Given the description of an element on the screen output the (x, y) to click on. 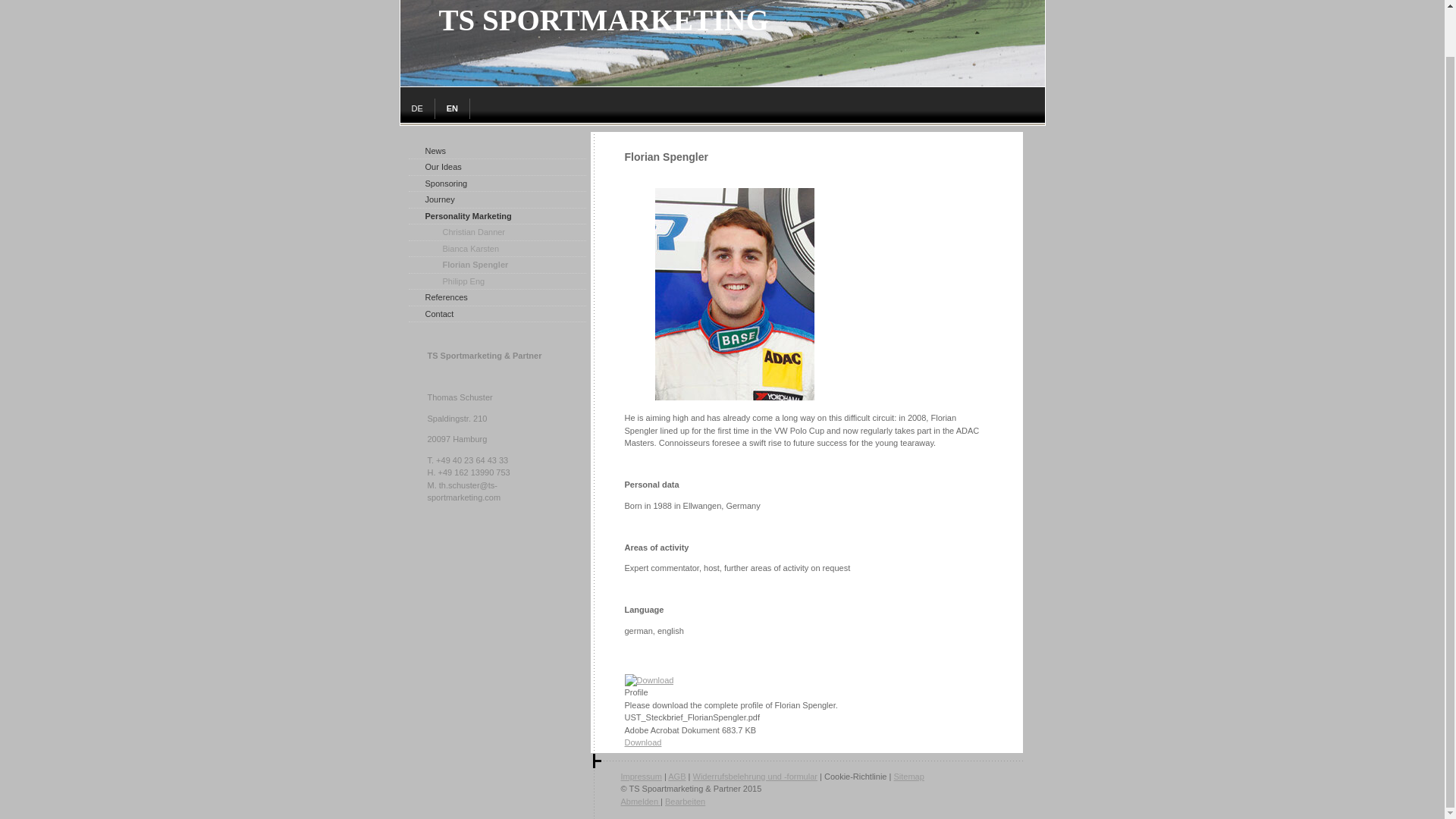
Abmelden (640, 800)
Bearbeiten (684, 800)
References (496, 297)
AGB (676, 776)
Florian Spengler (496, 265)
Our Ideas (496, 167)
Impressum (640, 776)
Journey (496, 199)
Personality Marketing (496, 216)
EN (452, 108)
Cookie-Richtlinie (855, 776)
Download (643, 741)
SUCCESS IN ADVERTISING HAS A NAME. TS SPORTMARKETING (722, 82)
Widerrufsbelehrung und -formular (754, 776)
Sponsoring (496, 183)
